Given the description of an element on the screen output the (x, y) to click on. 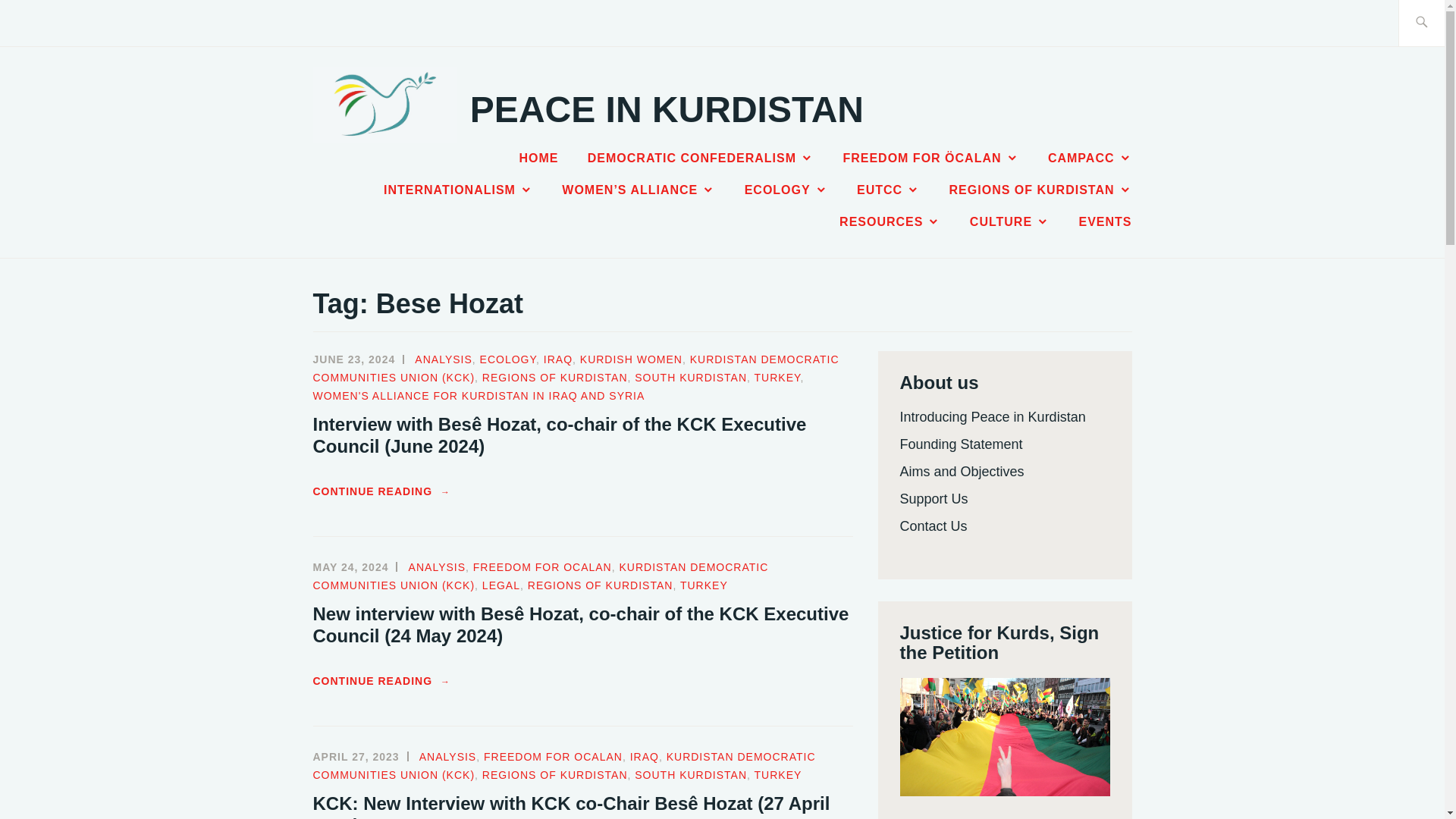
DEMOCRATIC CONFEDERALISM (700, 158)
Search (47, 22)
ECOLOGY (786, 189)
PEACE IN KURDISTAN (666, 109)
EUTCC (888, 189)
INTERNATIONALISM (458, 189)
CAMPACC (1090, 158)
HOME (537, 158)
